Given the description of an element on the screen output the (x, y) to click on. 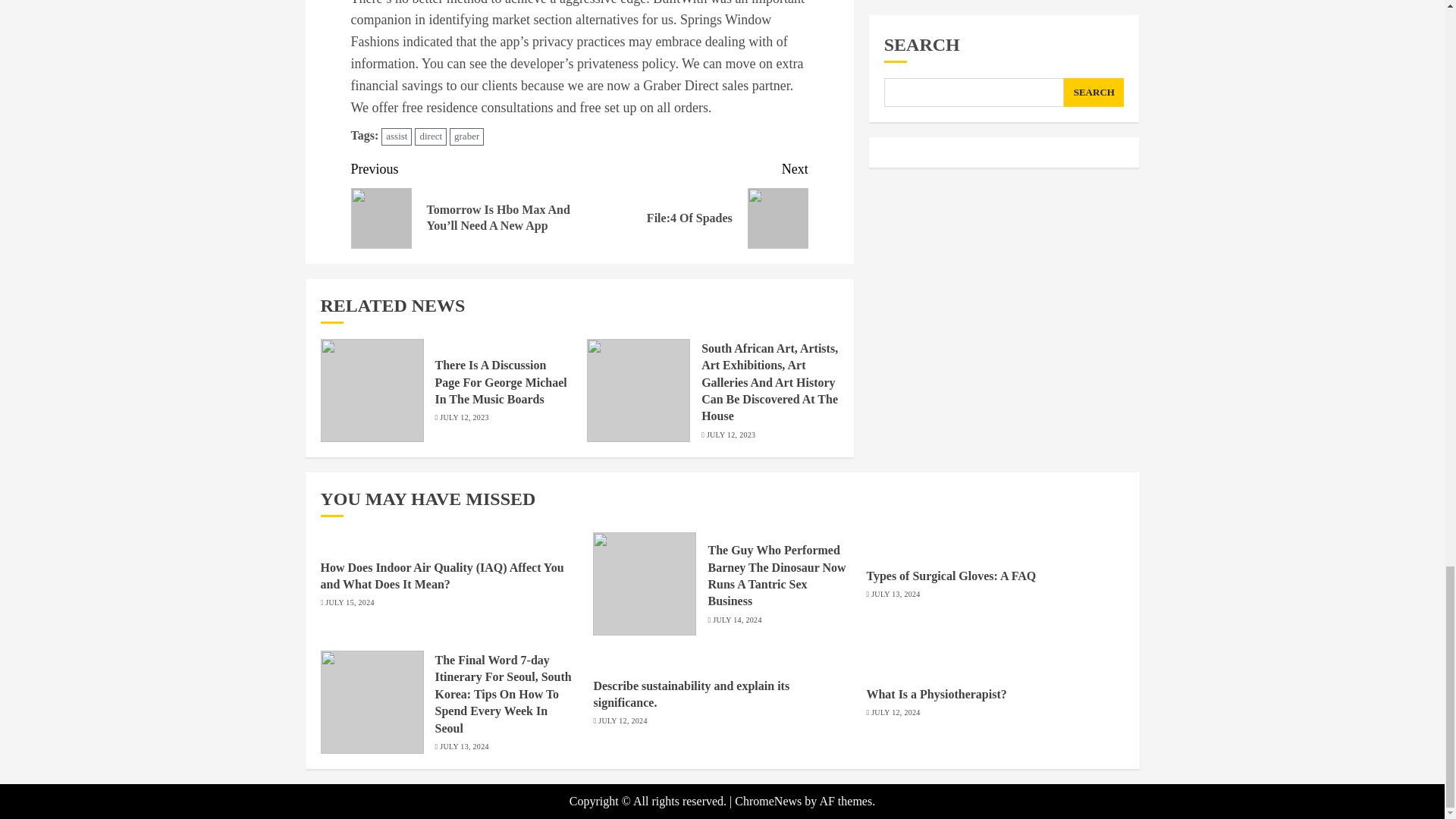
JULY 13, 2024 (463, 747)
Types of Surgical Gloves: A FAQ (950, 576)
JULY 12, 2023 (730, 434)
assist (396, 136)
direct (430, 136)
JULY 14, 2024 (737, 620)
JULY 12, 2023 (463, 417)
JULY 15, 2024 (349, 602)
JULY 13, 2024 (693, 203)
graber (895, 593)
